Given the description of an element on the screen output the (x, y) to click on. 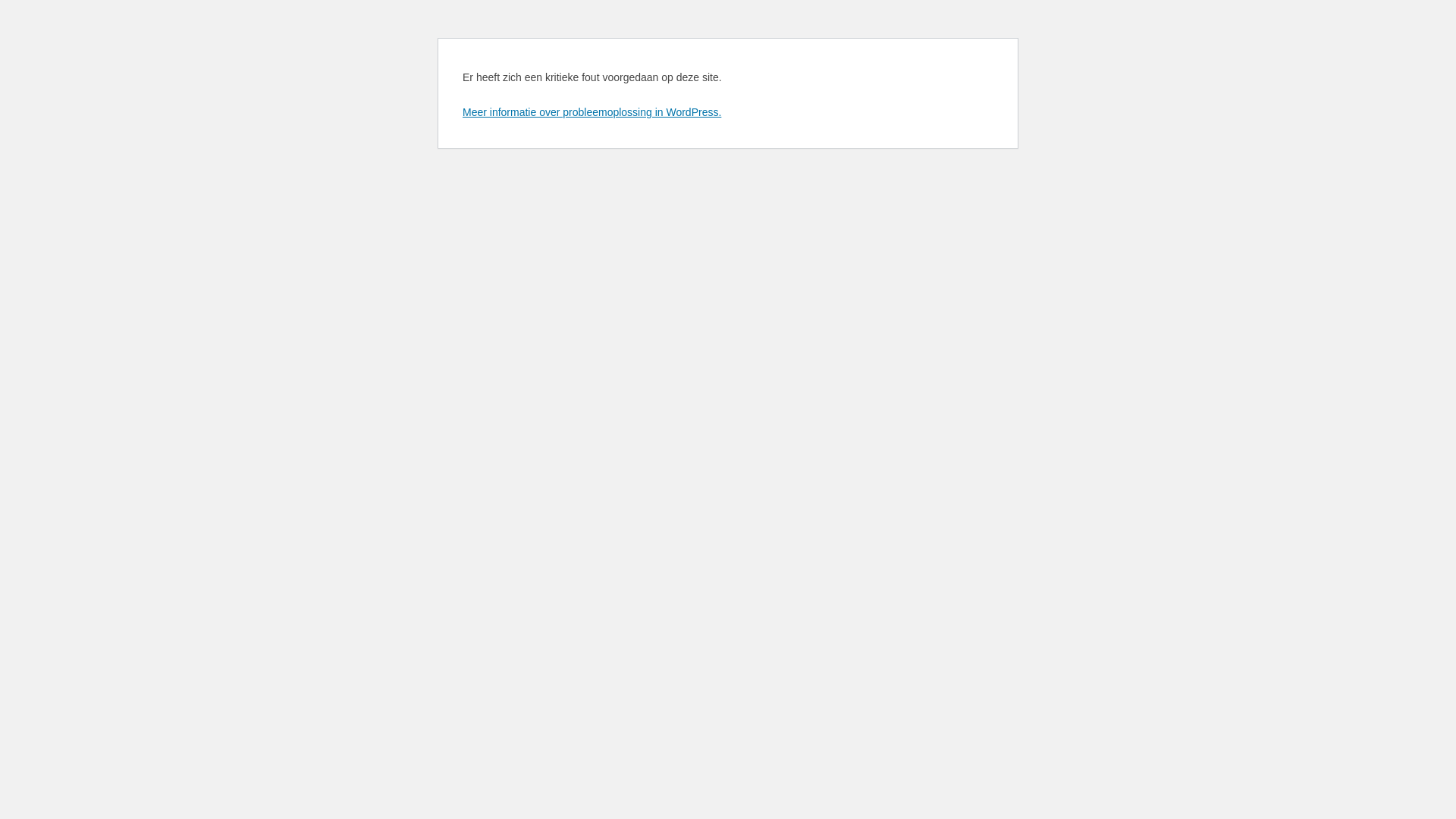
Meer informatie over probleemoplossing in WordPress. Element type: text (591, 112)
